Given the description of an element on the screen output the (x, y) to click on. 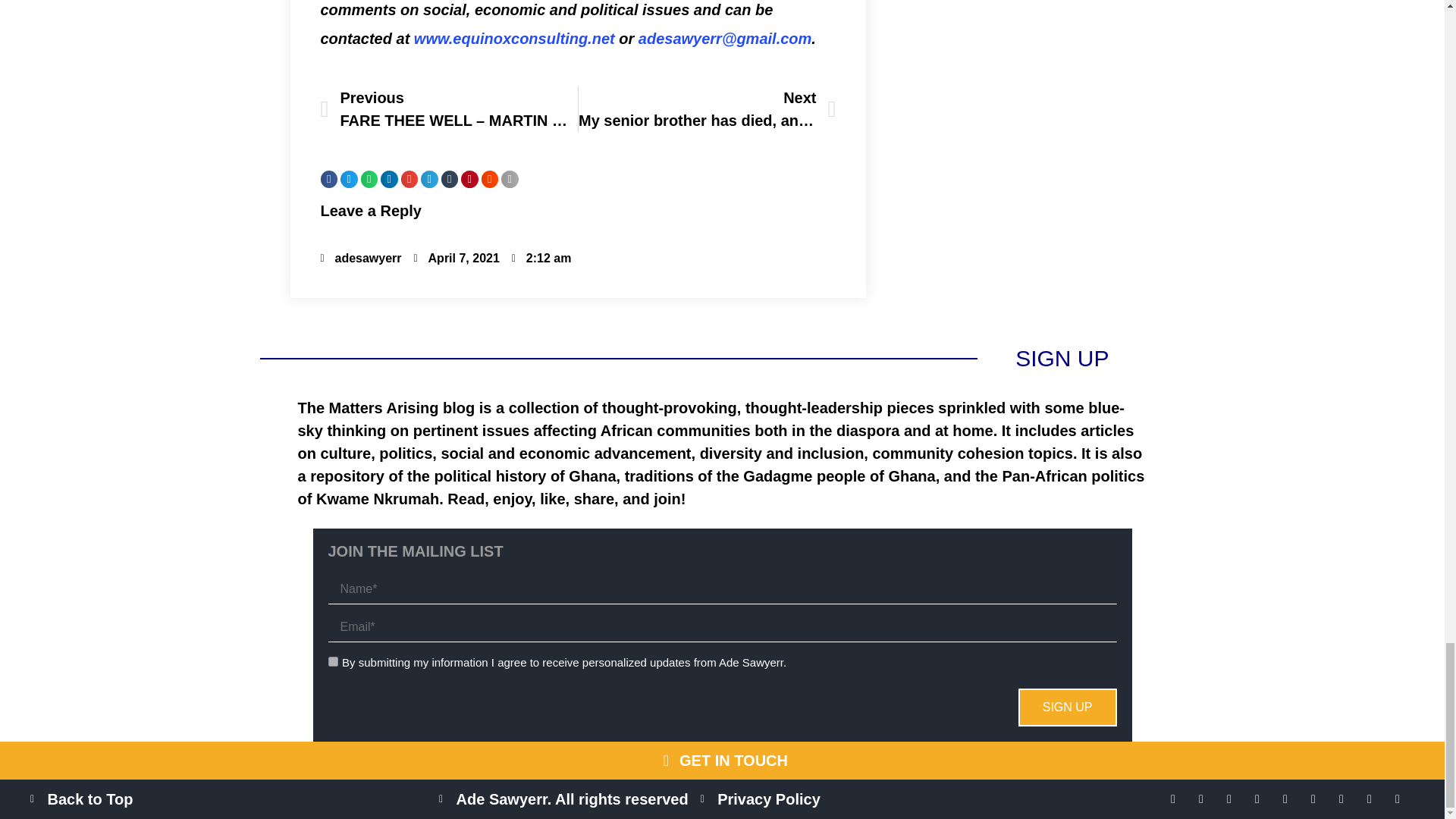
www.equinoxconsulting.net (513, 38)
